Given the description of an element on the screen output the (x, y) to click on. 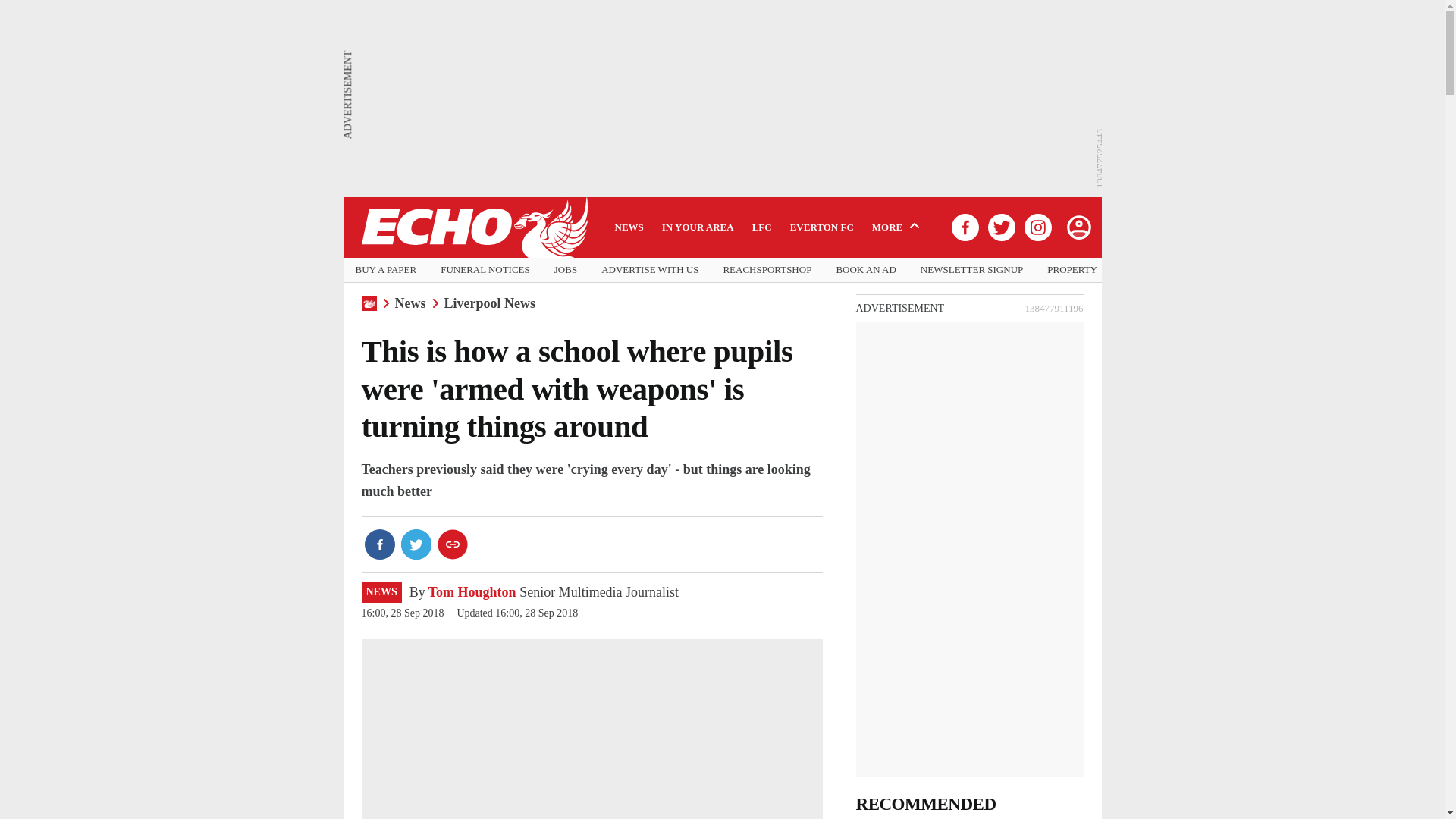
IN YOUR AREA (697, 227)
Go to the Liverpool Echo homepage (473, 227)
Tom Houghton (472, 591)
NEWSLETTER SIGNUP (971, 270)
avatar (1077, 227)
ADVERTISE WITH US (649, 270)
JOBS (565, 270)
BOOK AN AD (865, 270)
REACHSPORTSHOP (766, 270)
Liverpool News (489, 303)
FUNERAL NOTICES (485, 270)
BUY A PAPER (385, 270)
News (409, 303)
EVERTON FC (821, 227)
